Given the description of an element on the screen output the (x, y) to click on. 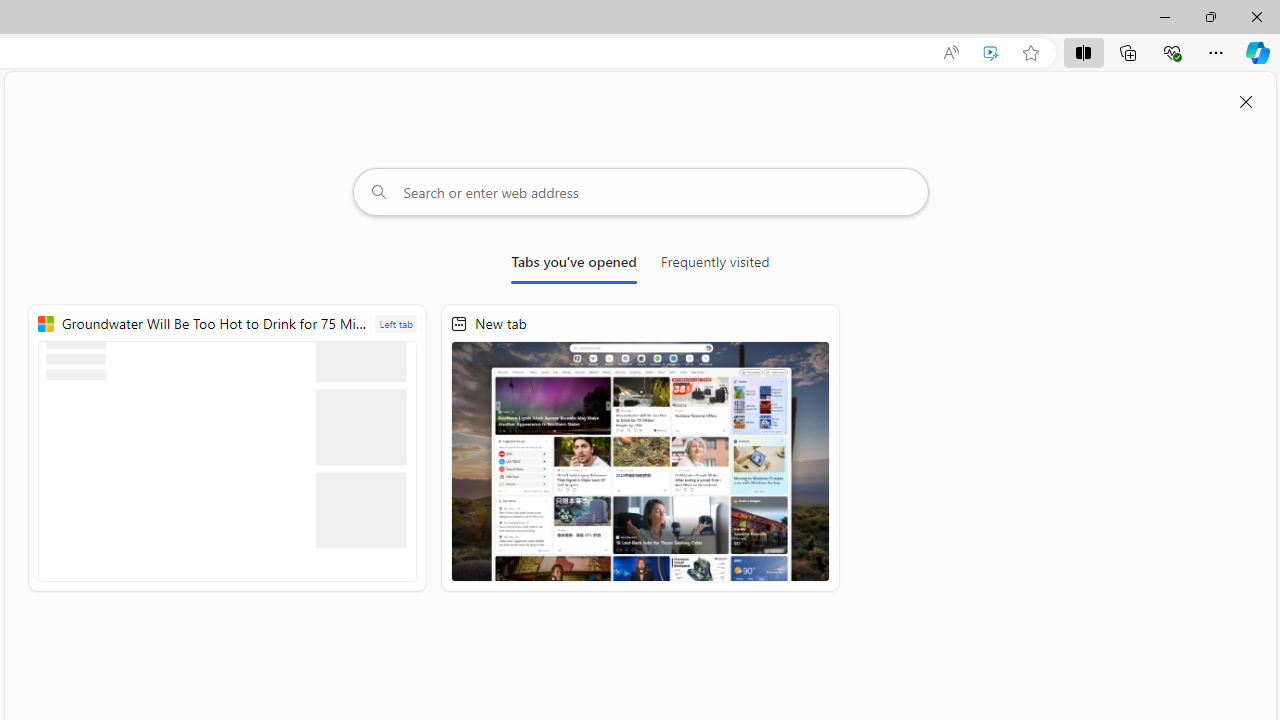
Close split screen (1245, 102)
